Given the description of an element on the screen output the (x, y) to click on. 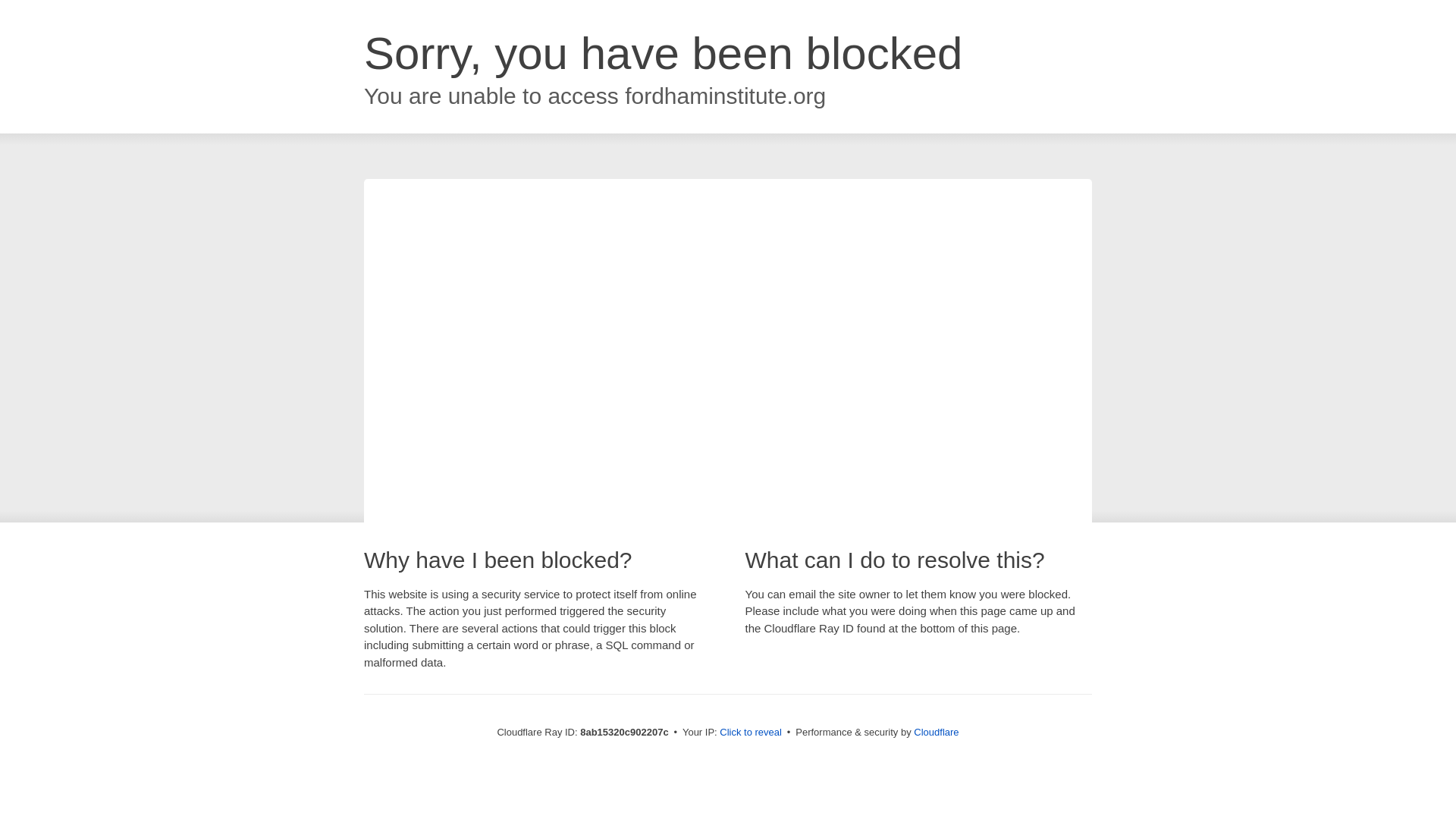
Click to reveal (750, 732)
Cloudflare (936, 731)
